Given the description of an element on the screen output the (x, y) to click on. 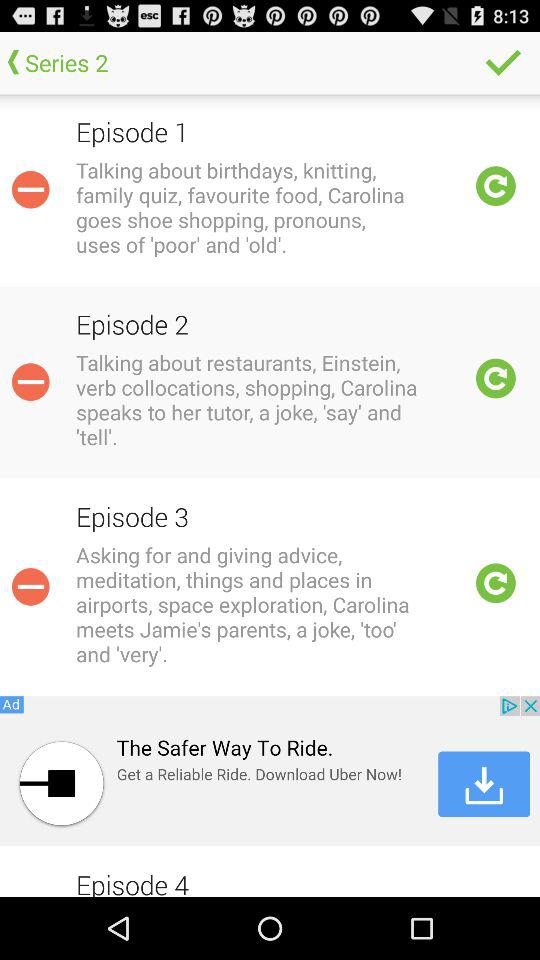
delete (30, 382)
